Given the description of an element on the screen output the (x, y) to click on. 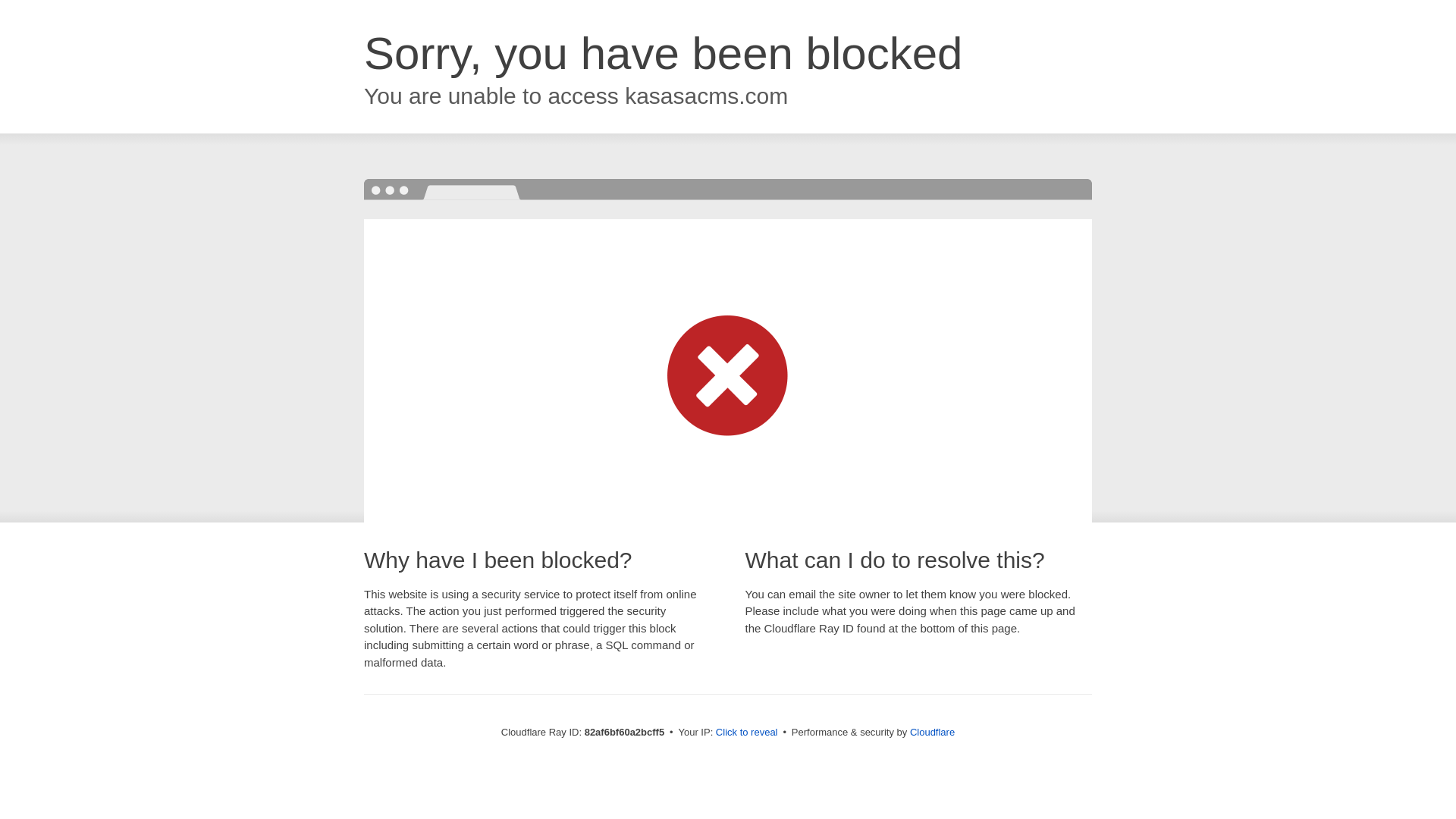
Click to reveal Element type: text (746, 732)
Cloudflare Element type: text (932, 731)
